Given the description of an element on the screen output the (x, y) to click on. 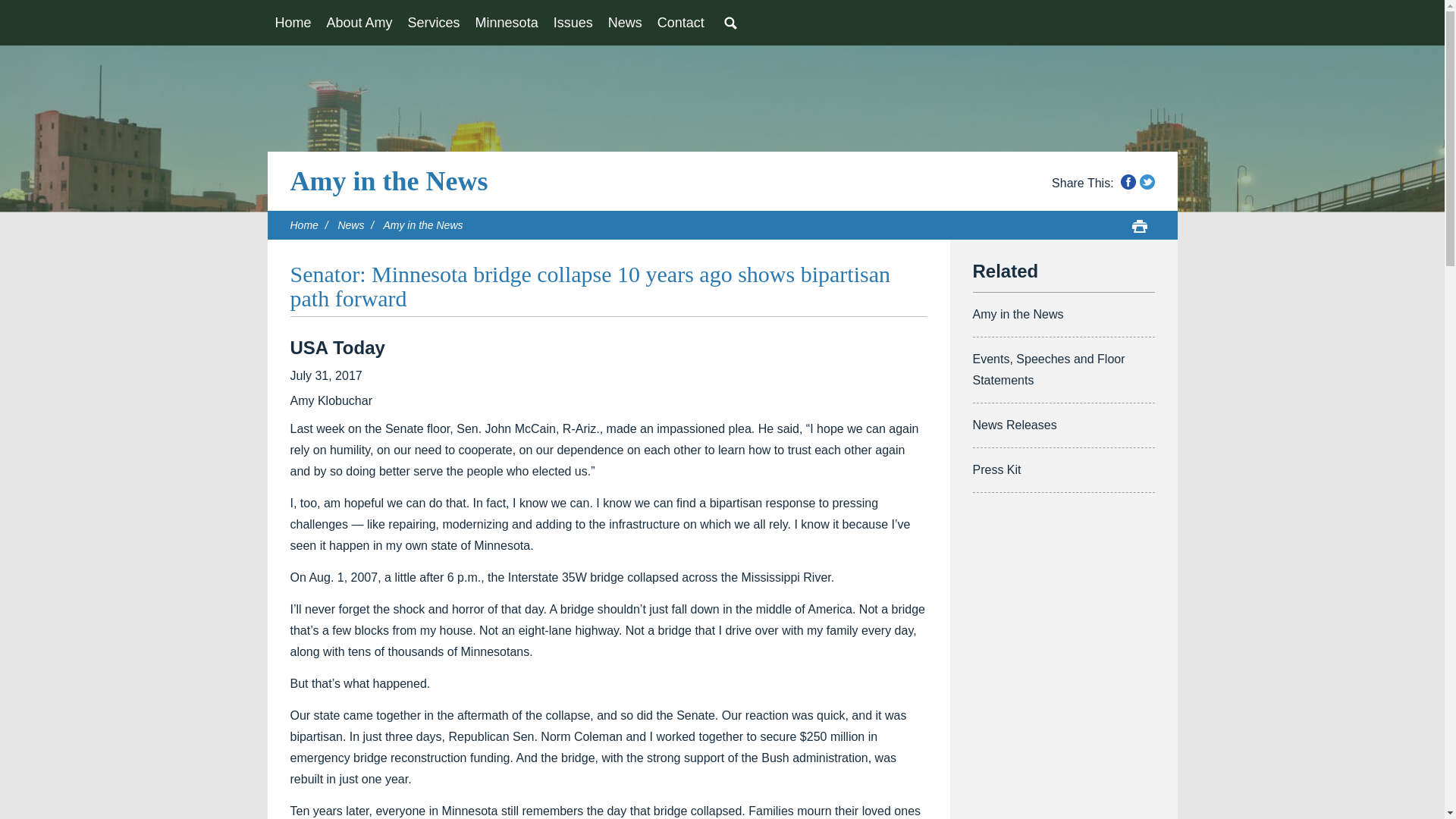
About Amy (359, 22)
Services (433, 22)
Issues (572, 22)
Minnesota (506, 22)
Home (292, 22)
